Given the description of an element on the screen output the (x, y) to click on. 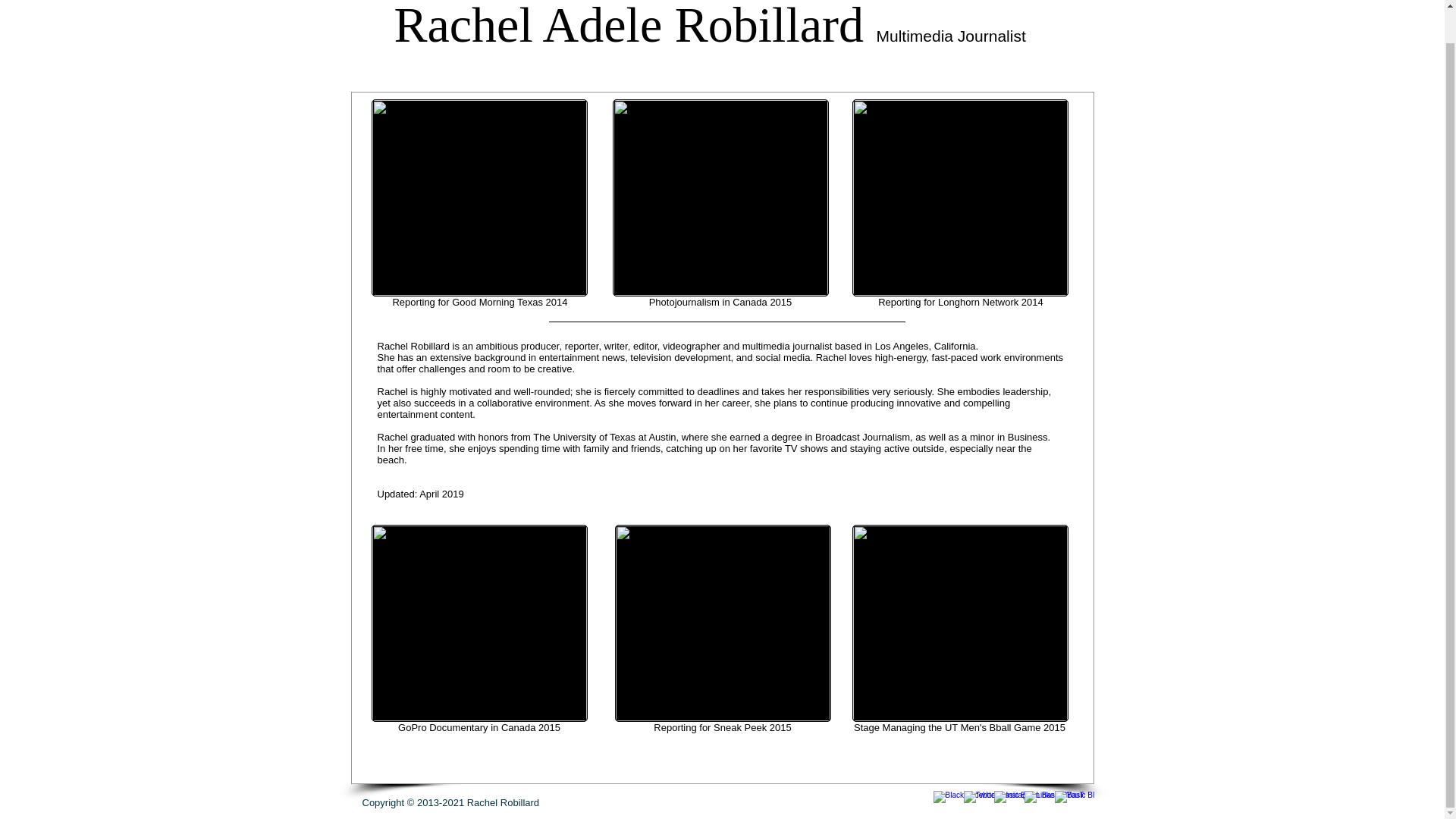
new2.JPG (720, 197)
FullSizeRender.jpg (959, 197)
